Given the description of an element on the screen output the (x, y) to click on. 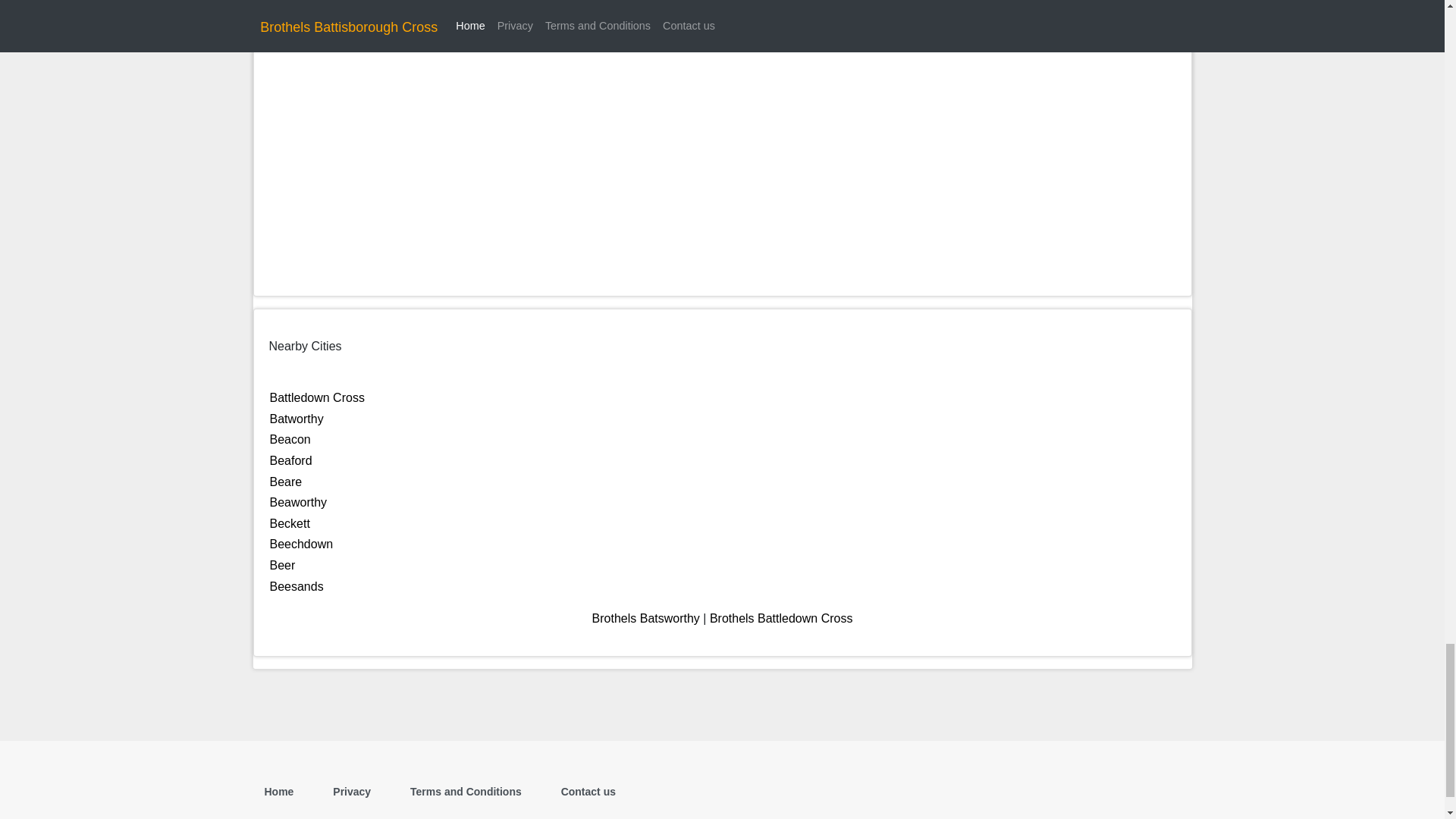
Beckett (289, 522)
Battledown Cross (317, 397)
Beaworthy (298, 502)
Brothels Batsworthy (646, 617)
Beer (282, 564)
Beechdown (301, 543)
Beaford (291, 460)
Beesands (296, 585)
Beare (285, 481)
Batworthy (296, 418)
Brothels Battledown Cross (781, 617)
Beacon (290, 439)
